Given the description of an element on the screen output the (x, y) to click on. 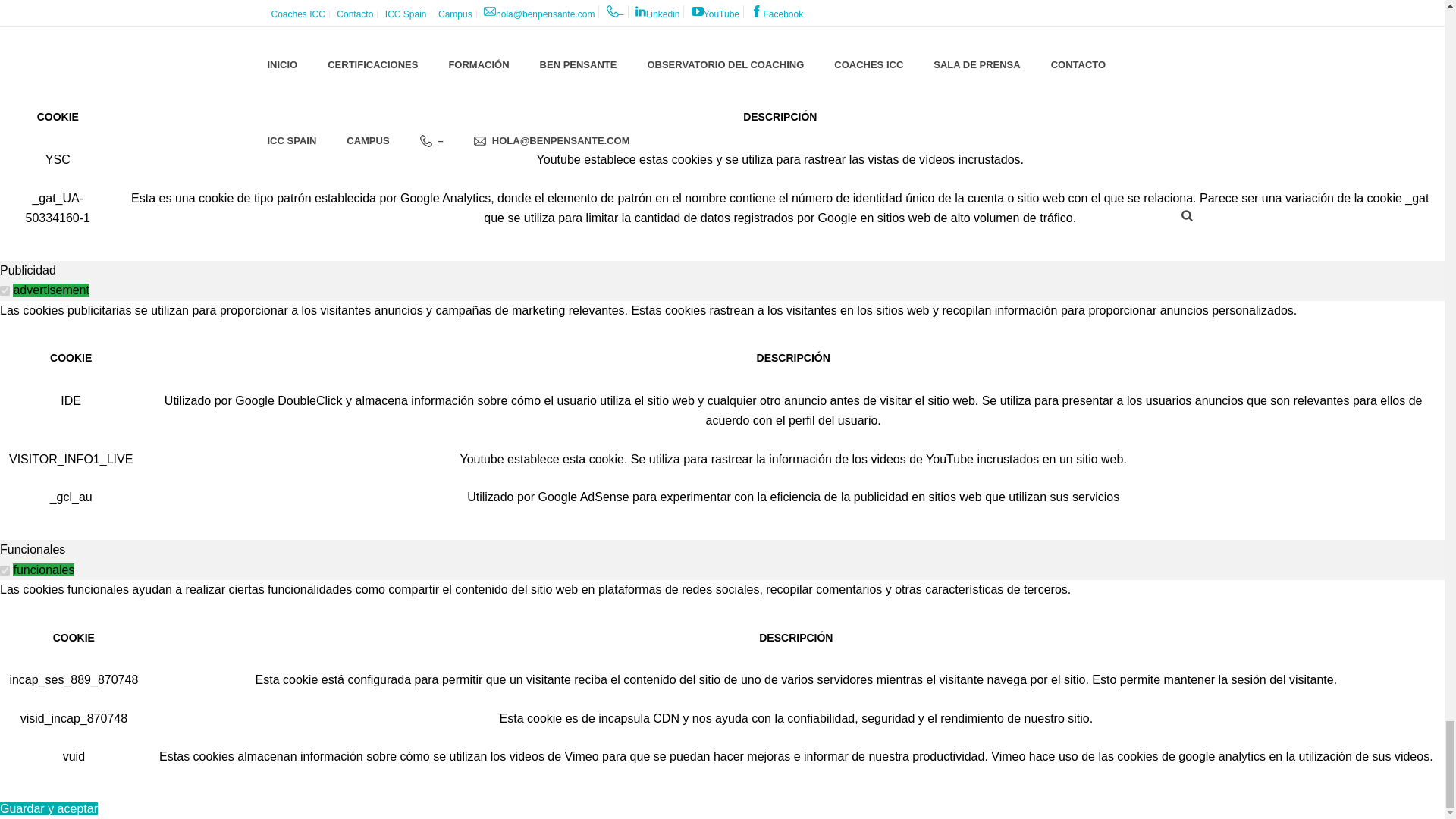
on (5, 570)
on (5, 50)
on (5, 290)
